Given the description of an element on the screen output the (x, y) to click on. 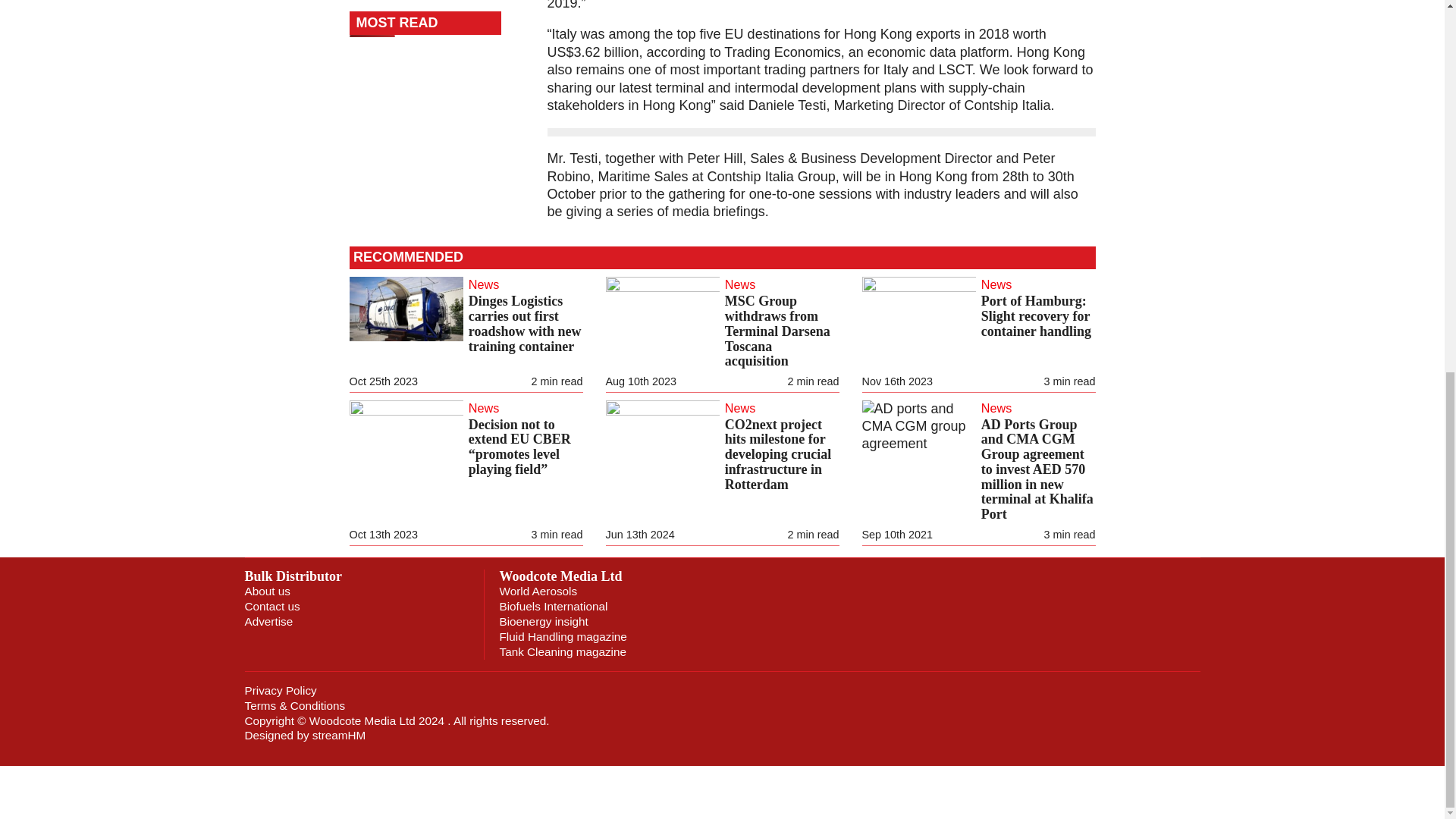
Contact us (271, 605)
Port of Hamburg: Slight recovery for container handling    (1035, 322)
World Aerosols (537, 590)
About us (266, 590)
Woodcote Media Ltd (560, 575)
Advertise (268, 621)
